Given the description of an element on the screen output the (x, y) to click on. 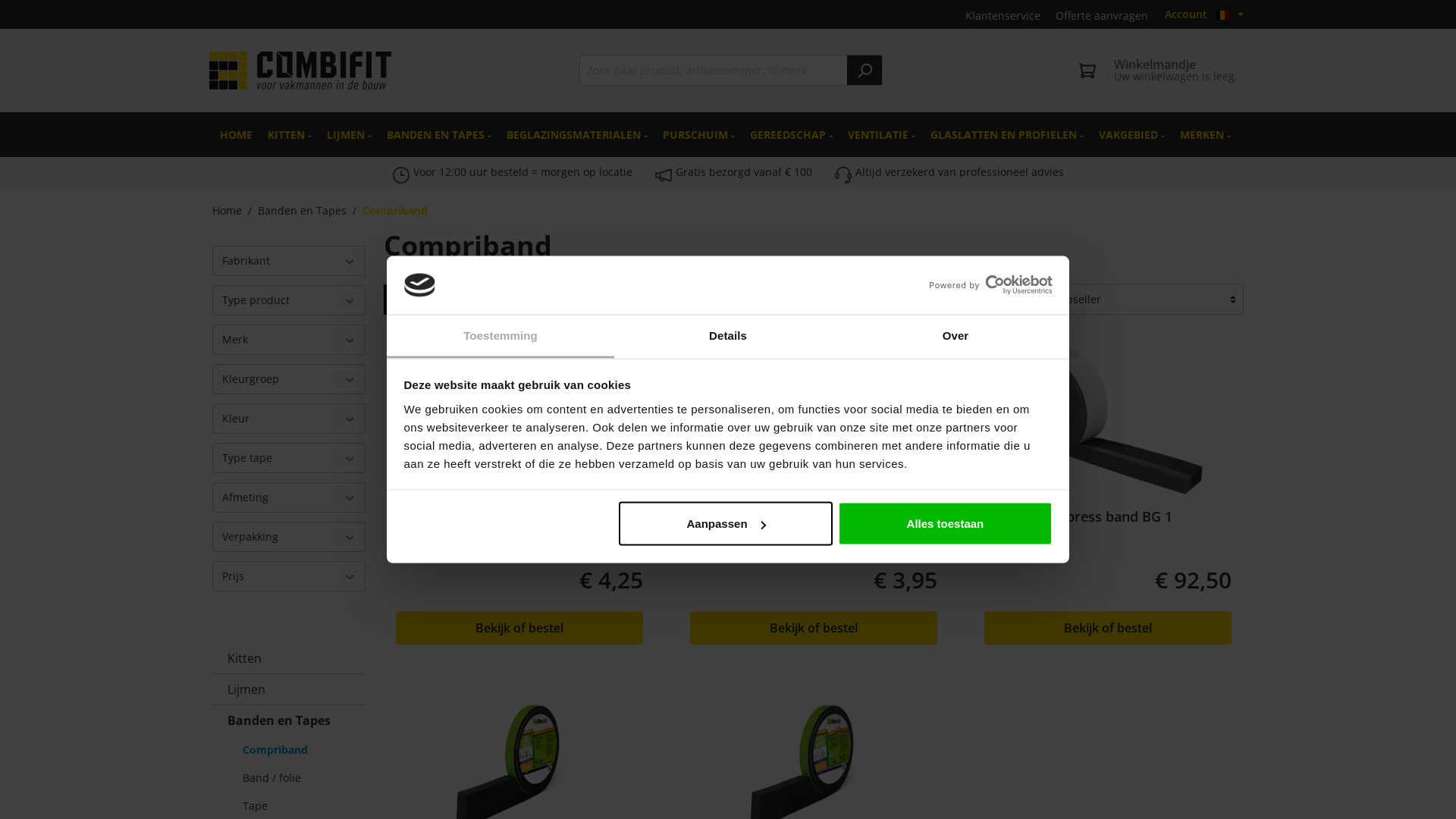
Compriband Element type: text (394, 210)
Offerte aanvragen Element type: text (1101, 14)
Aanpassen Element type: text (725, 524)
Klantenservice Element type: text (1002, 14)
Alles toestaan Element type: text (944, 524)
Band / folie Element type: text (296, 777)
Kleur Element type: text (288, 418)
LIJMEN Element type: text (349, 134)
Prijs Element type: text (288, 576)
Kitten Element type: text (288, 658)
VAKGEBIED Element type: text (1131, 134)
Type tape Element type: text (288, 457)
KITTEN Element type: text (289, 134)
PURSCHUIM Element type: text (698, 134)
Home Element type: text (226, 210)
GLASLATTEN EN PROFIELEN Element type: text (1006, 134)
Afmeting Element type: text (288, 497)
Banden en Tapes Element type: text (301, 210)
MERKEN Element type: text (1205, 134)
HOME Element type: text (236, 134)
Account Element type: text (1185, 14)
Lijmen Element type: text (288, 689)
Illbruck TP610 Illmod Compri Element type: text (519, 524)
Combifit Combiband Element type: text (813, 524)
Banden en Tapes Element type: text (288, 720)
Voor 12:00 uur besteld = morgen op locatie Element type: text (521, 171)
GEREEDSCHAP Element type: text (791, 134)
Merk Element type: text (288, 339)
Toestemming Element type: text (500, 335)
Fabrikant Element type: text (288, 260)
Zwaluw compress band BG 1 Element type: text (1107, 524)
Type product Element type: text (288, 300)
VENTILATIE Element type: text (881, 134)
Compriband Element type: text (296, 749)
Details Element type: text (727, 335)
Bekijk of bestel Element type: text (519, 627)
Over Element type: text (955, 335)
Kleurgroep Element type: text (288, 379)
Winkelmandje
Uw winkelwagen is leeg. Element type: text (1158, 70)
Naar de startpagina Element type: hover (300, 70)
Verpakking Element type: text (288, 536)
BEGLAZINGSMATERIALEN Element type: text (576, 134)
Bekijk of bestel Element type: text (813, 627)
Zwaluw Compressband BG1 15 x 15mm 153 Element type: hover (1107, 420)
Bekijk of bestel Element type: text (1107, 627)
BANDEN EN TAPES Element type: text (438, 134)
